Given the description of an element on the screen output the (x, y) to click on. 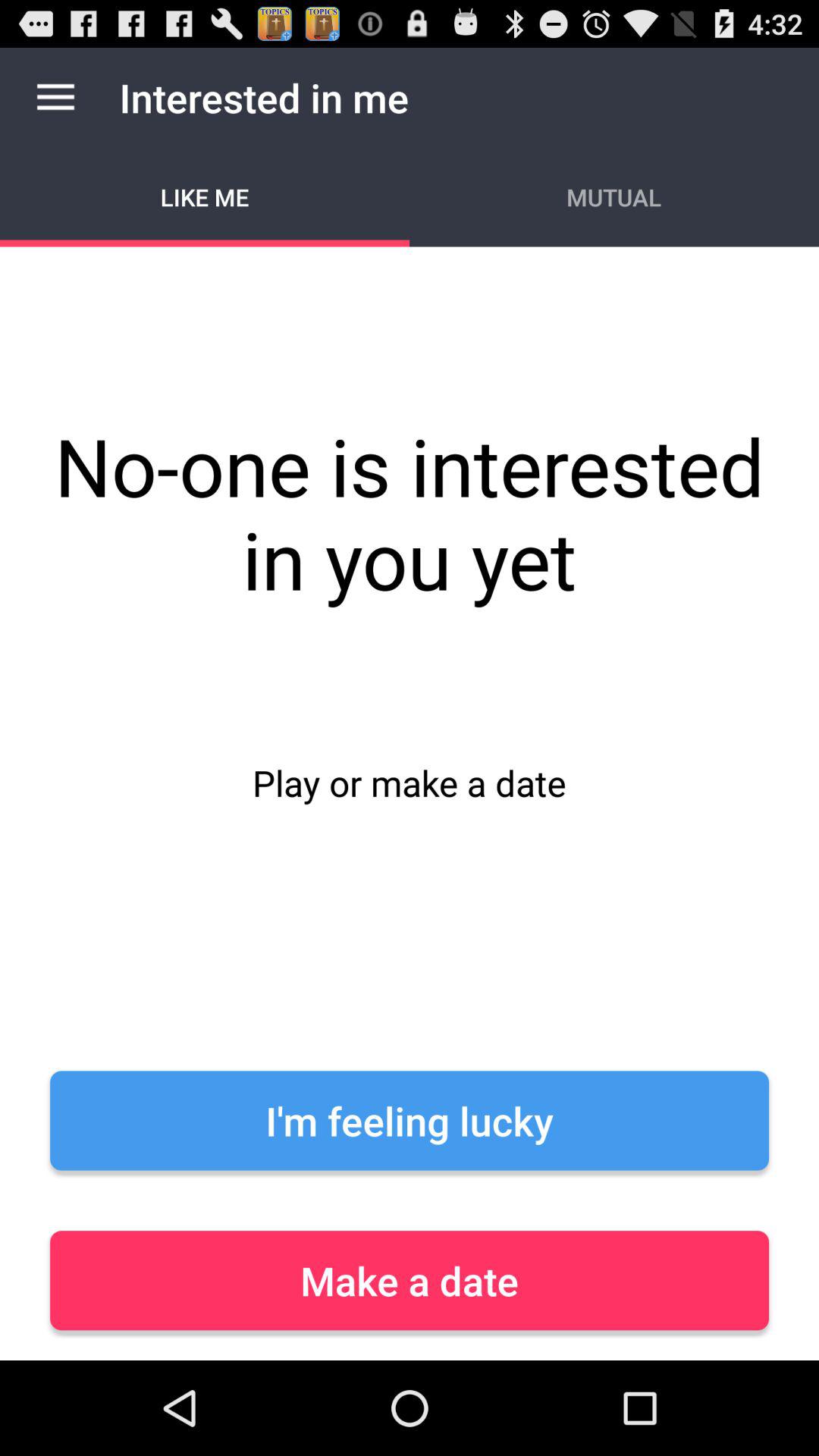
click app to the left of interested in me icon (55, 97)
